Given the description of an element on the screen output the (x, y) to click on. 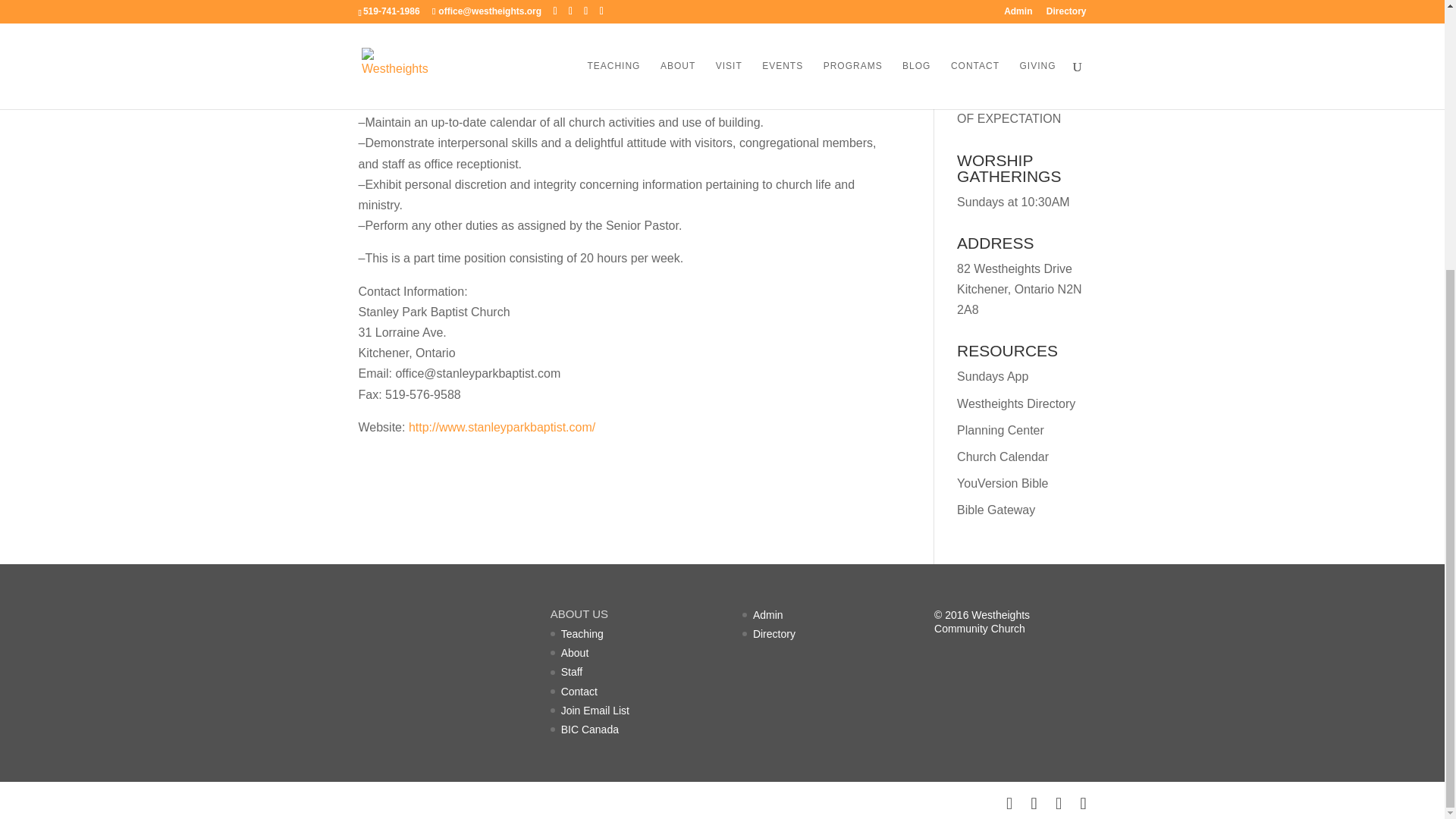
Church Calendar (1002, 456)
About (574, 653)
MEETING GOD IN CRISIS: THE CRISIS OF LOSS (1013, 29)
Westheights Directory (1015, 403)
Join Email List (594, 710)
YouVersion Bible (1002, 482)
Bible Gateway (995, 509)
Staff (571, 671)
MEETING GOD IN CRISIS: THE CRISIS OF EXPECTATION (1013, 98)
Planning Center (999, 430)
